Given the description of an element on the screen output the (x, y) to click on. 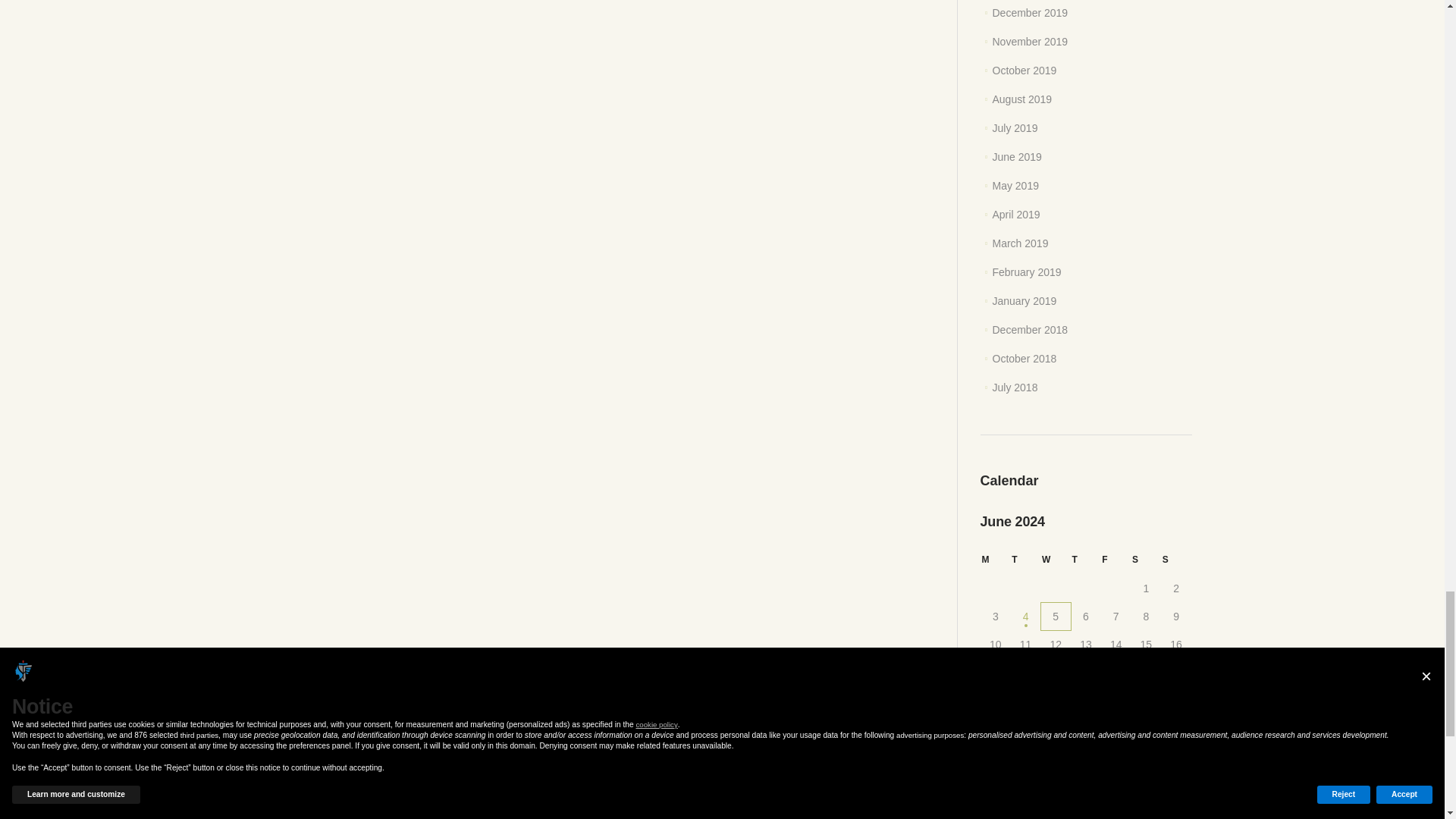
Sunday (1176, 559)
Tuesday (1025, 559)
Saturday (1145, 559)
Wednesday (1055, 559)
Monday (995, 559)
Thursday (1085, 559)
Friday (1115, 559)
